Given the description of an element on the screen output the (x, y) to click on. 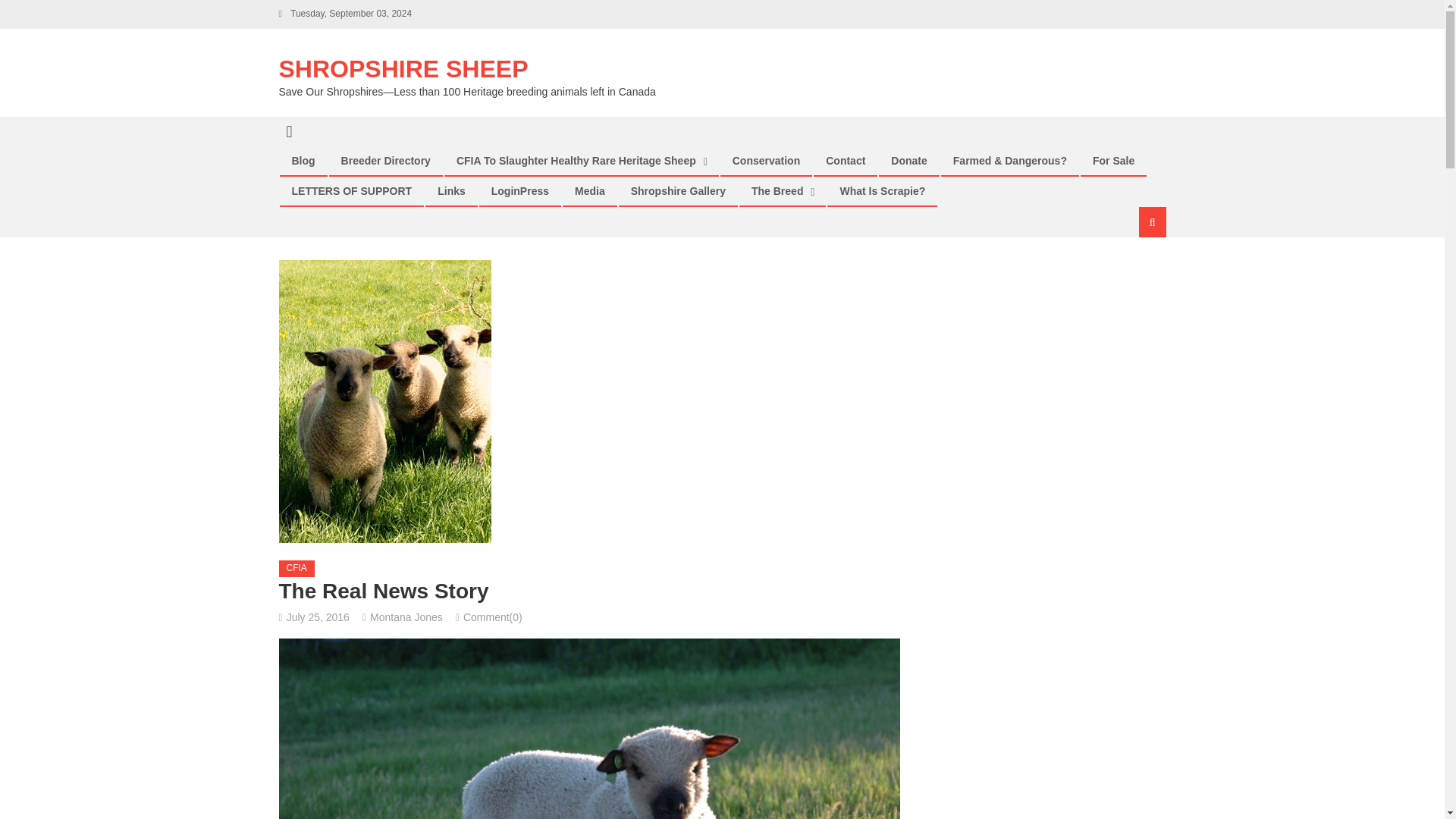
Breeder Directory (386, 160)
CFIA To Slaughter Healthy Rare Heritage Sheep (576, 160)
LoginPress (520, 190)
Contact (844, 160)
CFIA (296, 568)
Blog (303, 160)
The Breed (776, 190)
Media (589, 190)
Shropshire Gallery (678, 190)
Search (1133, 272)
